Given the description of an element on the screen output the (x, y) to click on. 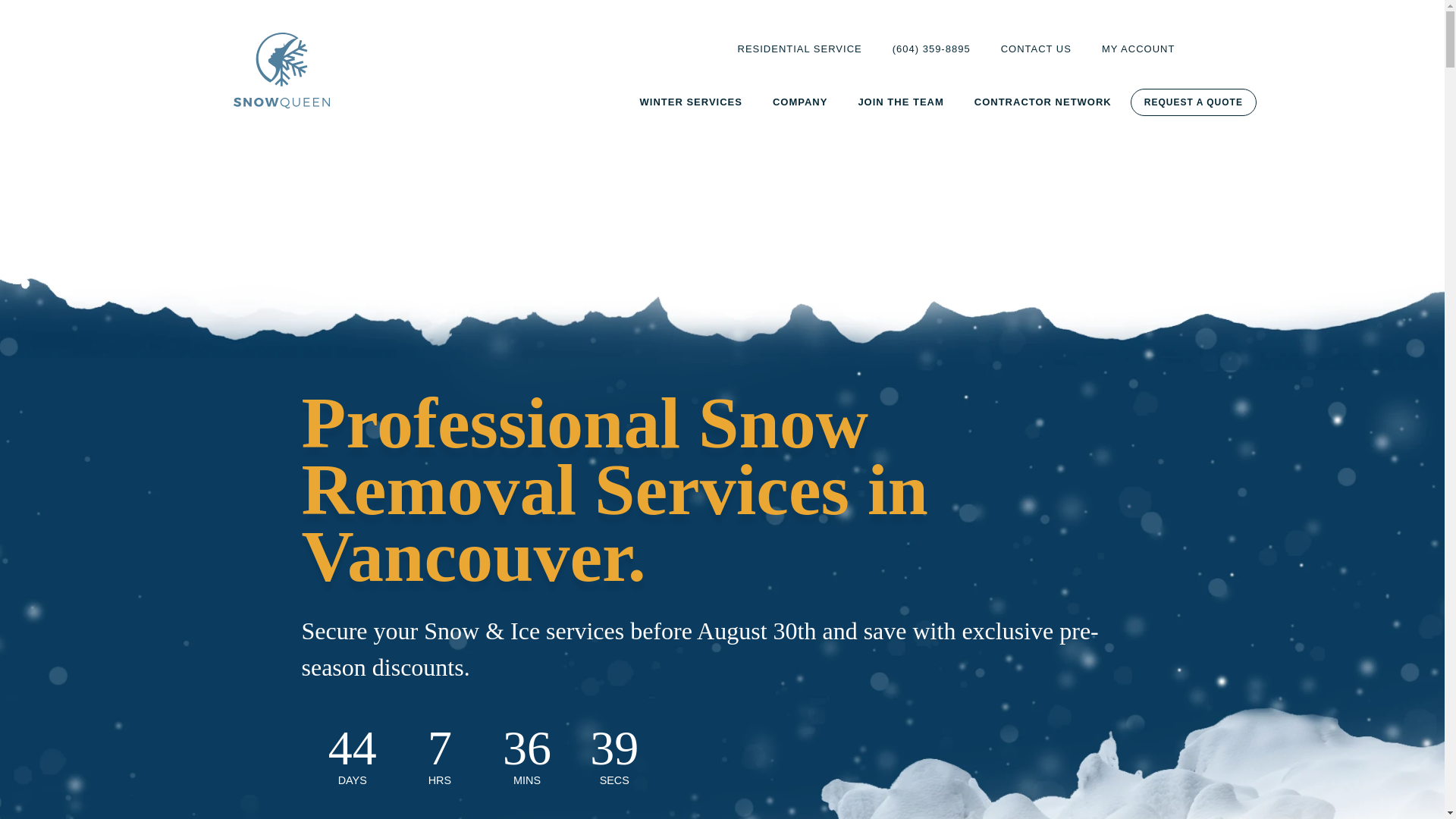
REQUEST A QUOTE (1193, 102)
RESIDENTIAL SERVICE (799, 48)
CONTRACTOR NETWORK (1042, 102)
WINTER SERVICES (690, 102)
COMPANY (800, 102)
CONTACT US (1036, 48)
JOIN THE TEAM (900, 102)
MY ACCOUNT (1138, 48)
